Given the description of an element on the screen output the (x, y) to click on. 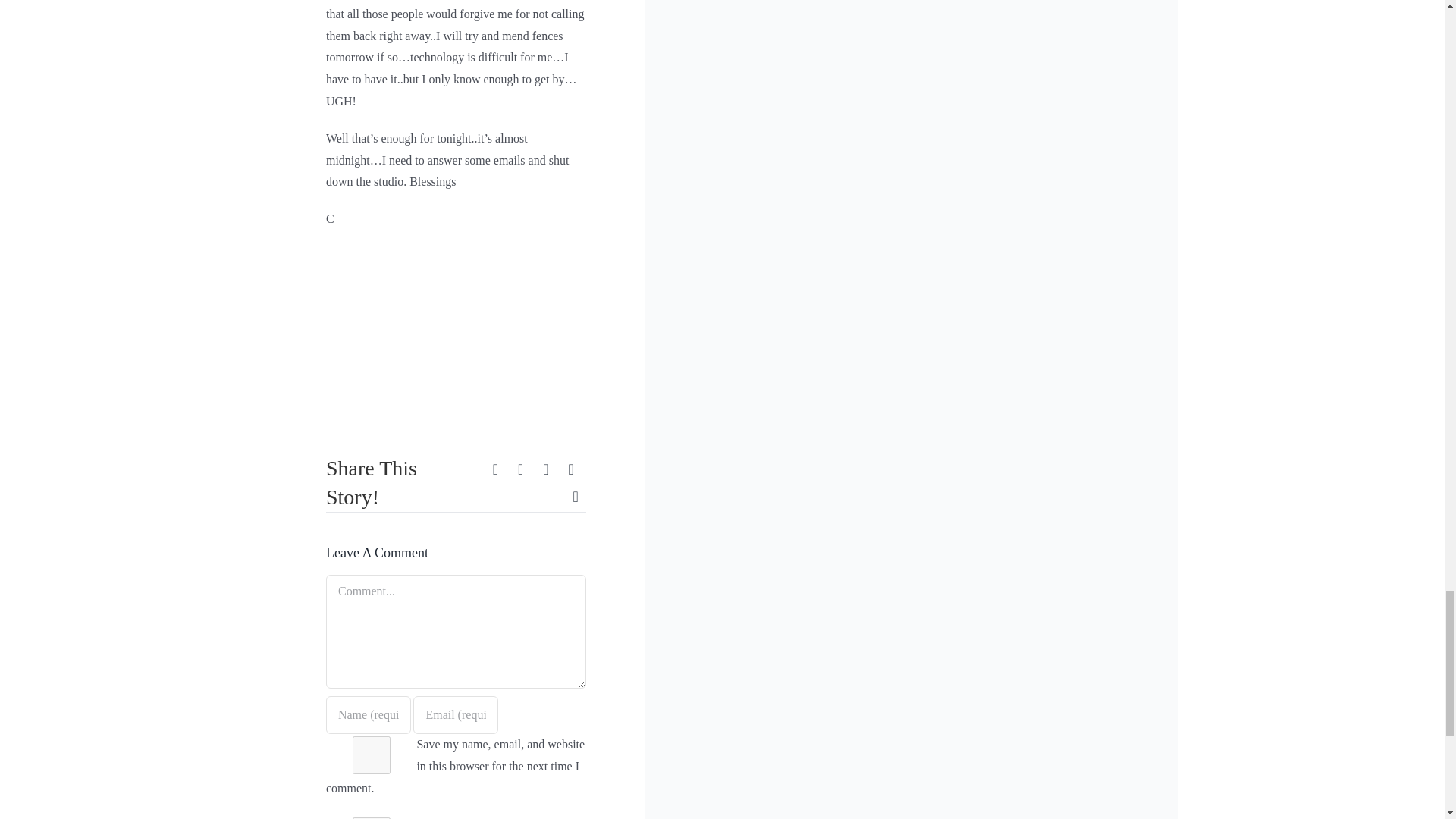
yes (371, 754)
1 (371, 818)
